Given the description of an element on the screen output the (x, y) to click on. 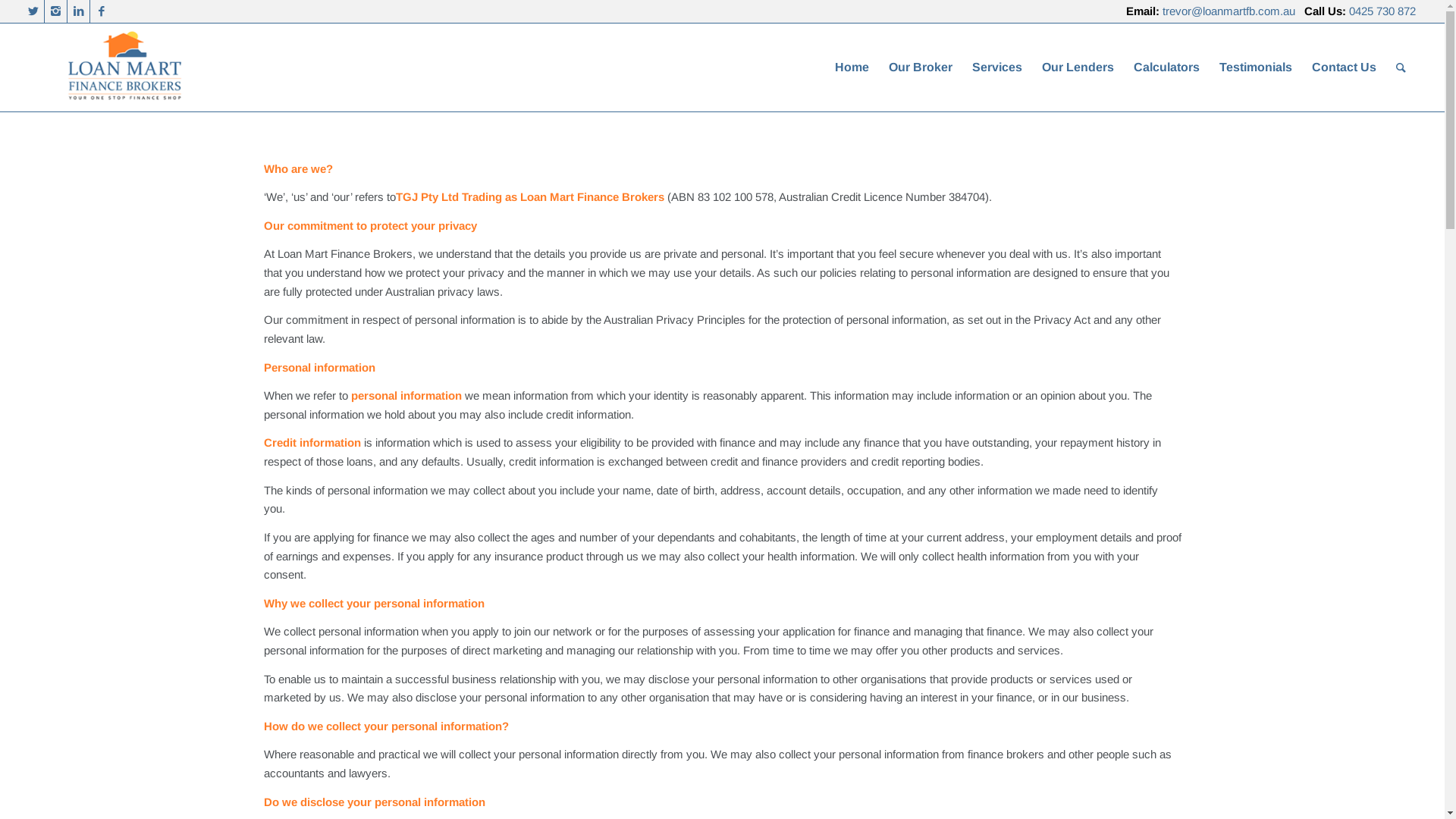
Twitter Element type: hover (32, 11)
Our Lenders Element type: text (1077, 67)
Home Element type: text (851, 67)
Contact Us Element type: text (1344, 67)
Calculators Element type: text (1166, 67)
trevor@loanmartfb.com.au Element type: text (1228, 10)
Testimonials Element type: text (1255, 67)
LinkedIn Element type: hover (78, 11)
0425 730 872 Element type: text (1382, 10)
Facebook Element type: hover (101, 11)
Our Broker Element type: text (920, 67)
Instagram Element type: hover (55, 11)
Services Element type: text (997, 67)
